Given the description of an element on the screen output the (x, y) to click on. 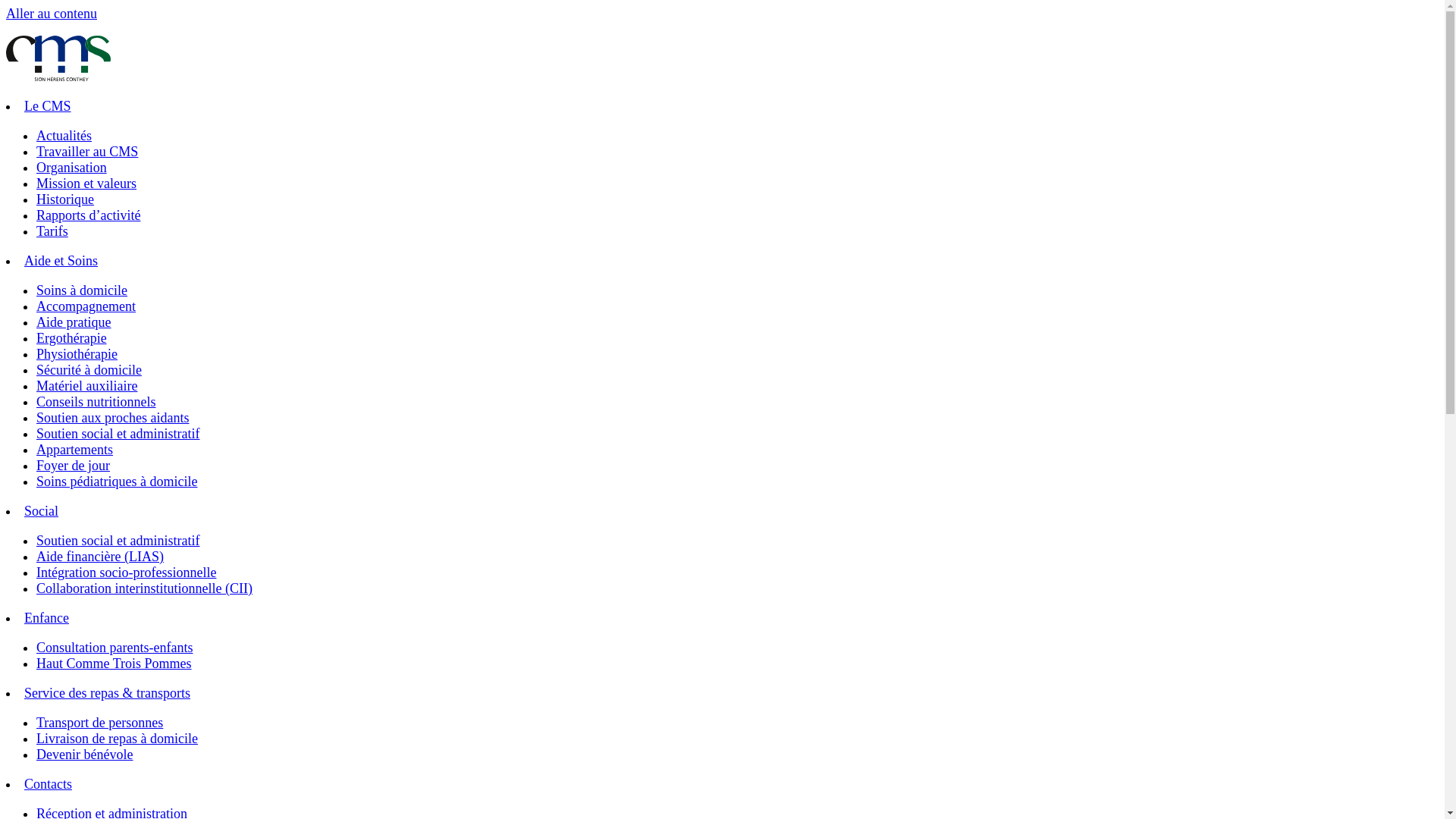
Service des repas & transports Element type: text (107, 692)
Contacts Element type: text (48, 783)
Tarifs Element type: text (52, 230)
Soutien aux proches aidants Element type: text (112, 417)
Conseils nutritionnels Element type: text (96, 401)
Aller au contenu Element type: text (51, 13)
Foyer de jour Element type: text (72, 465)
Organisation Element type: text (71, 167)
Haut Comme Trois Pommes Element type: text (113, 663)
Aide pratique Element type: text (73, 321)
Consultation parents-enfants Element type: text (114, 647)
Soutien social et administratif Element type: text (117, 433)
Social Element type: text (41, 510)
Historique Element type: text (65, 199)
Le CMS Element type: text (47, 105)
Transport de personnes Element type: text (99, 722)
Soutien social et administratif Element type: text (117, 540)
Aide et Soins Element type: text (60, 260)
Appartements Element type: text (74, 449)
Travailler au CMS Element type: text (87, 151)
Accompagnement Element type: text (85, 305)
Collaboration interinstitutionnelle (CII) Element type: text (144, 588)
Mission et valeurs Element type: text (86, 183)
Enfance Element type: text (46, 617)
